Given the description of an element on the screen output the (x, y) to click on. 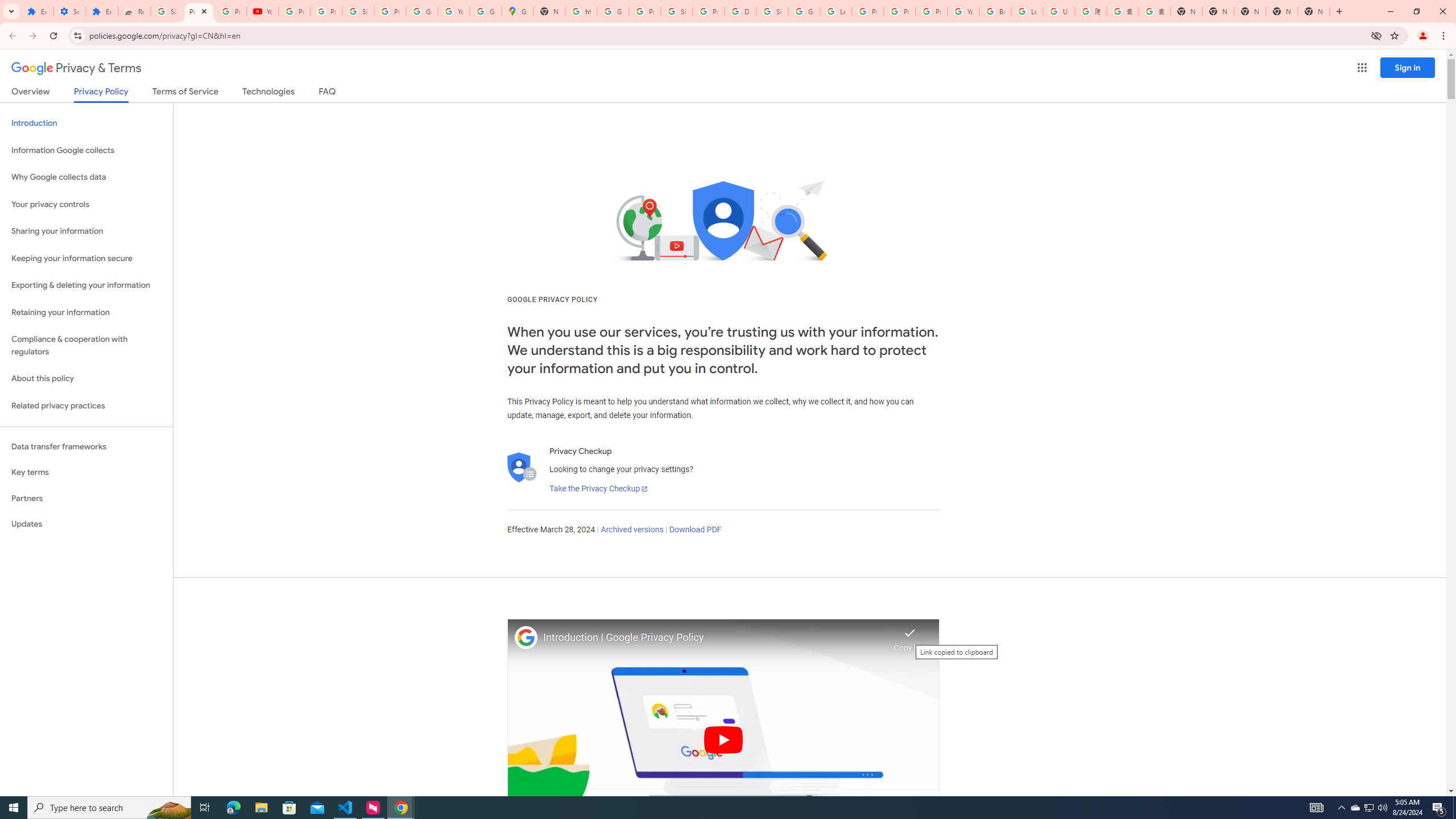
Settings (69, 11)
Partners (86, 497)
Link copied to clipboard (909, 636)
Take the Privacy Checkup (597, 488)
Updates (86, 524)
Archived versions (631, 529)
